Given the description of an element on the screen output the (x, y) to click on. 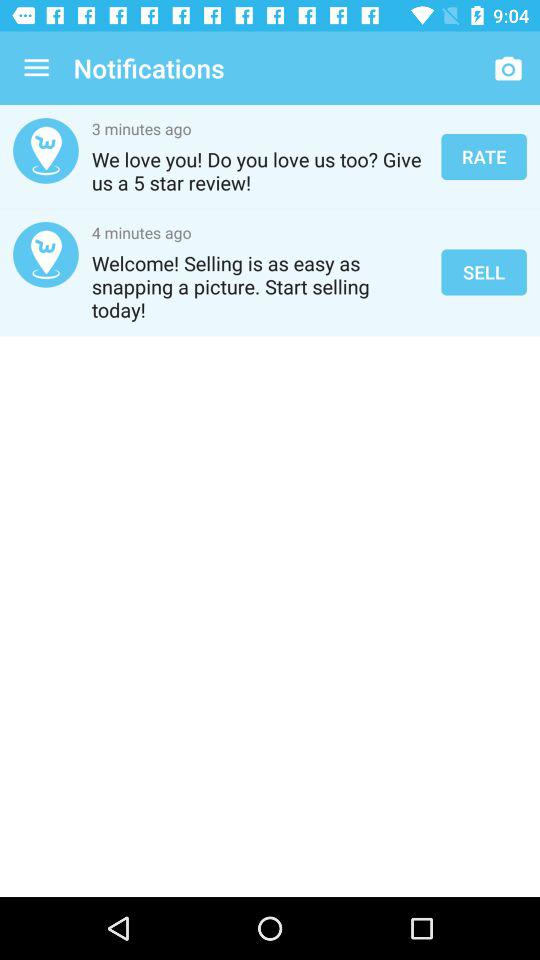
swipe until welcome selling is (259, 286)
